Given the description of an element on the screen output the (x, y) to click on. 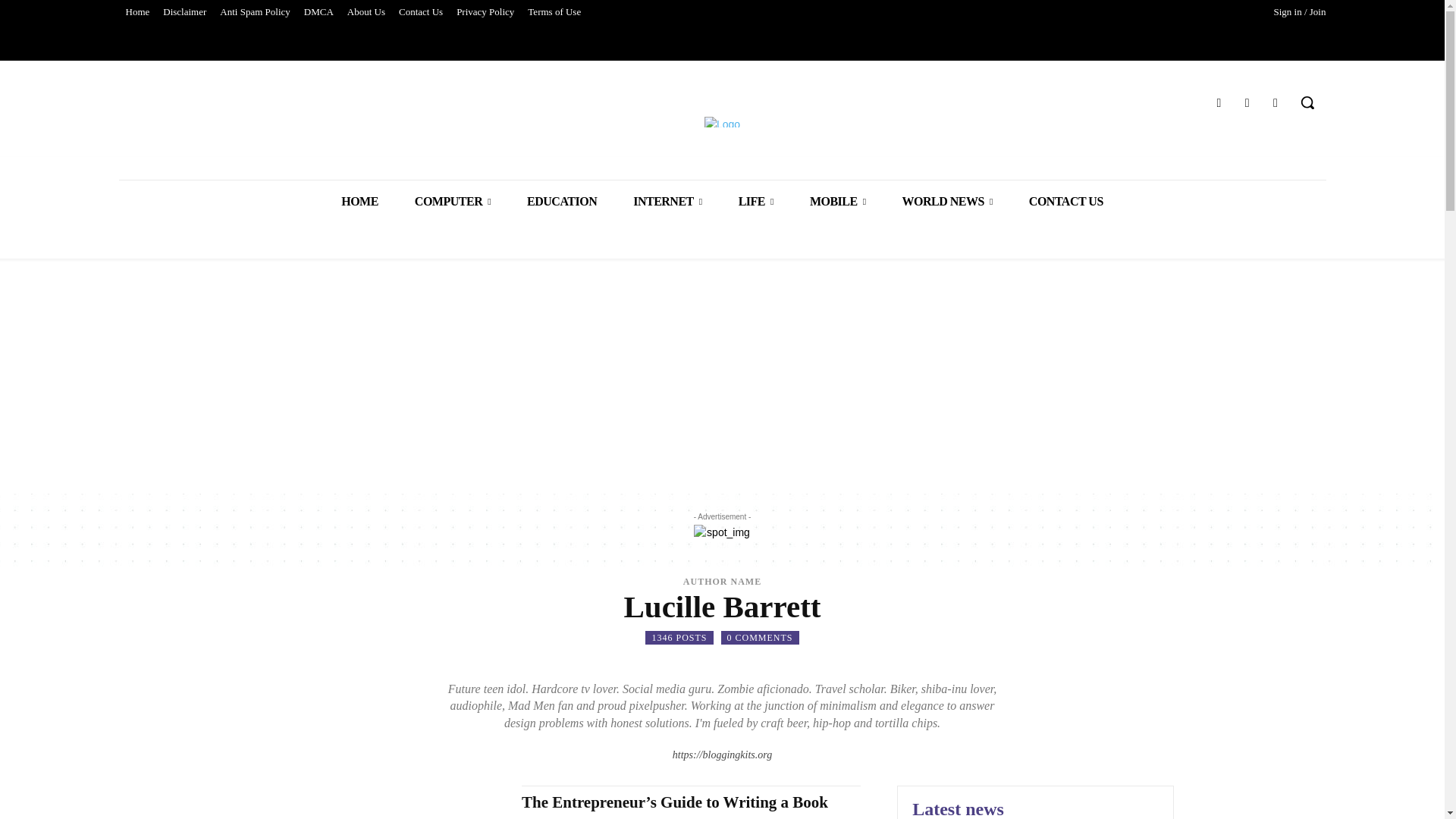
Disclaimer (183, 12)
Youtube (1275, 102)
Privacy Policy (485, 12)
Contact Us (420, 12)
Anti Spam Policy (254, 12)
Home (136, 12)
DMCA (318, 12)
Author Template - Pulses PRO 1 (722, 532)
Twitter (1246, 102)
About Us (365, 12)
Facebook (1218, 102)
